Given the description of an element on the screen output the (x, y) to click on. 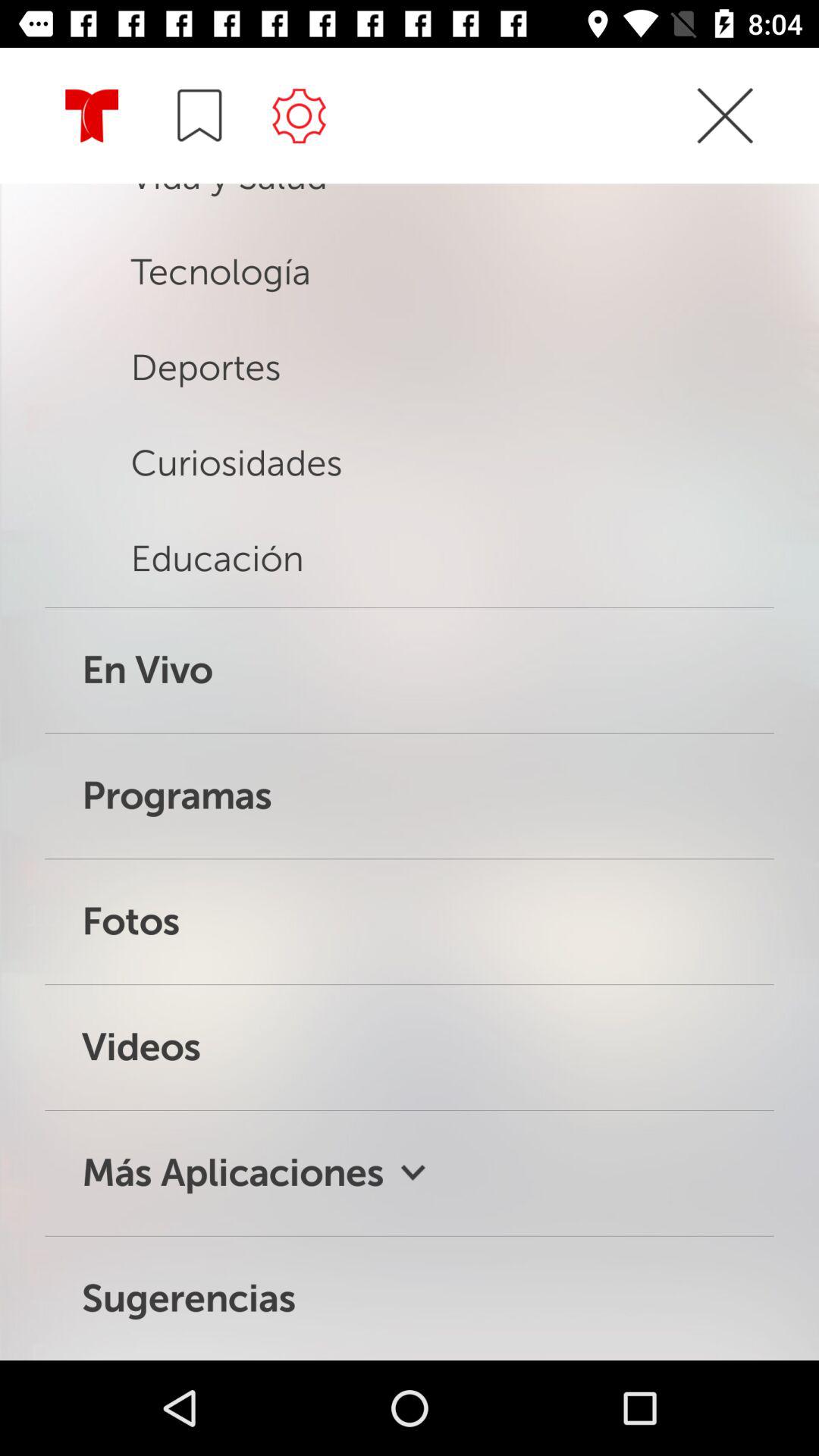
select the cross icon (725, 142)
go to the drop down which is right to mas aplicaciones (413, 1172)
select the icon which is left of the save icon (91, 116)
